Given the description of an element on the screen output the (x, y) to click on. 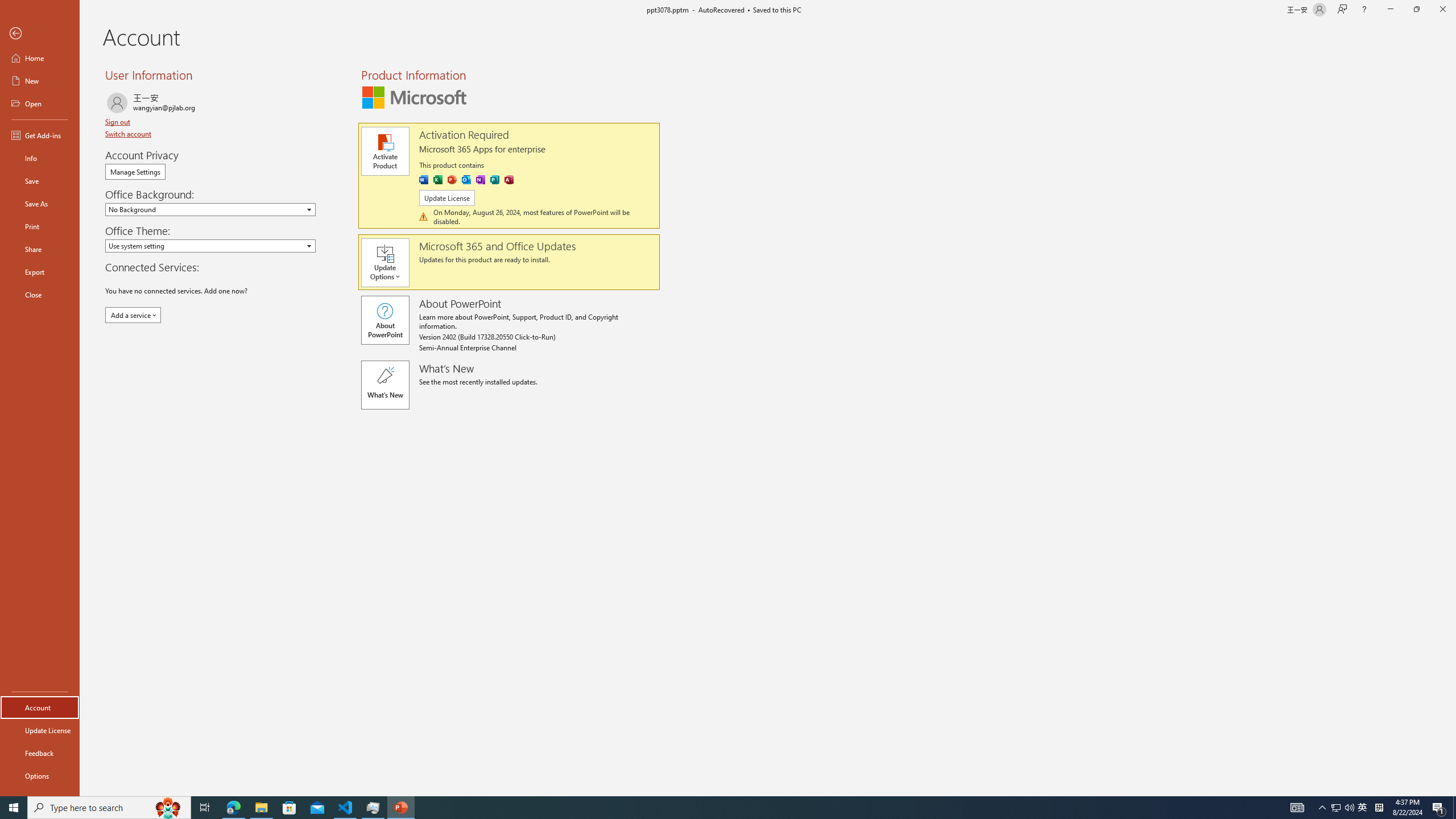
Options (40, 775)
Sign out (118, 121)
Back (40, 33)
Office Background (209, 209)
Publisher (494, 179)
Access (508, 179)
Account (40, 707)
OneNote (480, 179)
About PowerPoint (385, 319)
Get Add-ins (40, 134)
